Given the description of an element on the screen output the (x, y) to click on. 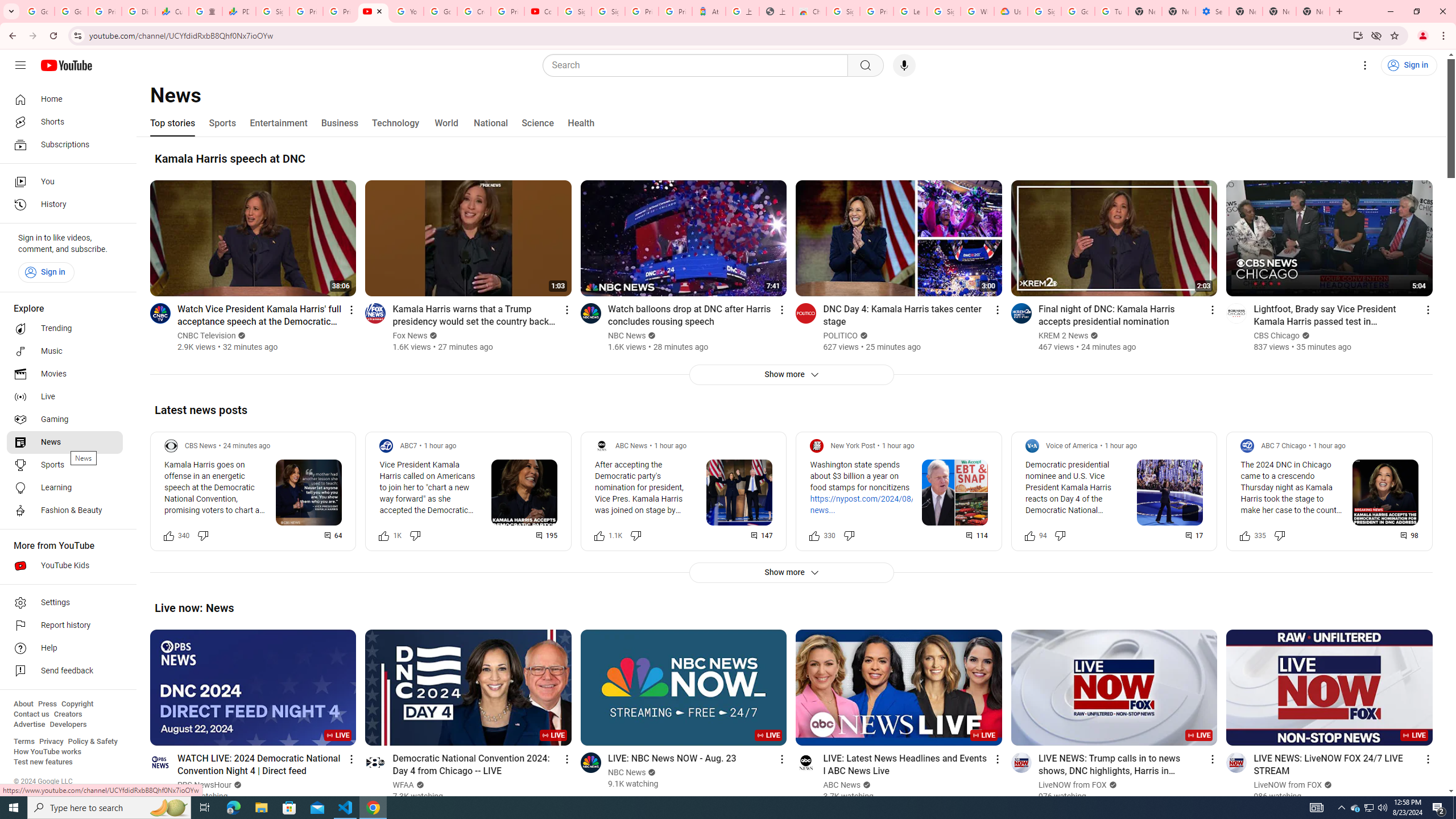
Sign in - Google Accounts (272, 11)
Shorts (64, 121)
News (64, 441)
Like this post along with 335 other people (1245, 534)
Report history (64, 625)
LIVE: NBC News NOW - Aug. 23 by NBC News 665,260 views (671, 757)
PBS NewsHour (204, 784)
Top stories (172, 122)
How YouTube works (47, 751)
